Given the description of an element on the screen output the (x, y) to click on. 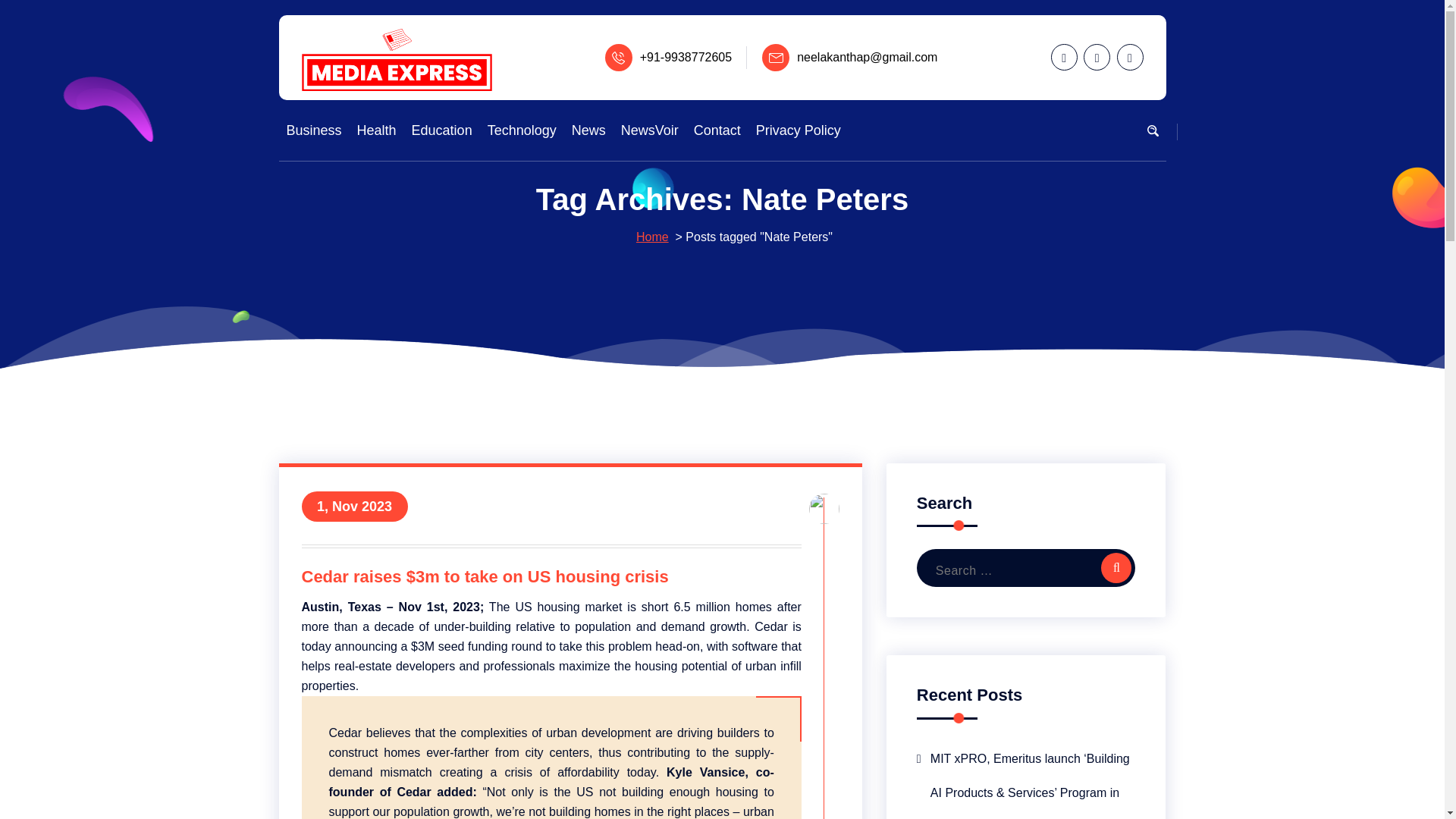
NewsVoir (649, 130)
Home (652, 236)
Privacy Policy (798, 130)
Education (441, 130)
Technology (521, 130)
Search (1115, 567)
Business (314, 130)
Contact (717, 130)
Health (376, 130)
News (588, 130)
